Given the description of an element on the screen output the (x, y) to click on. 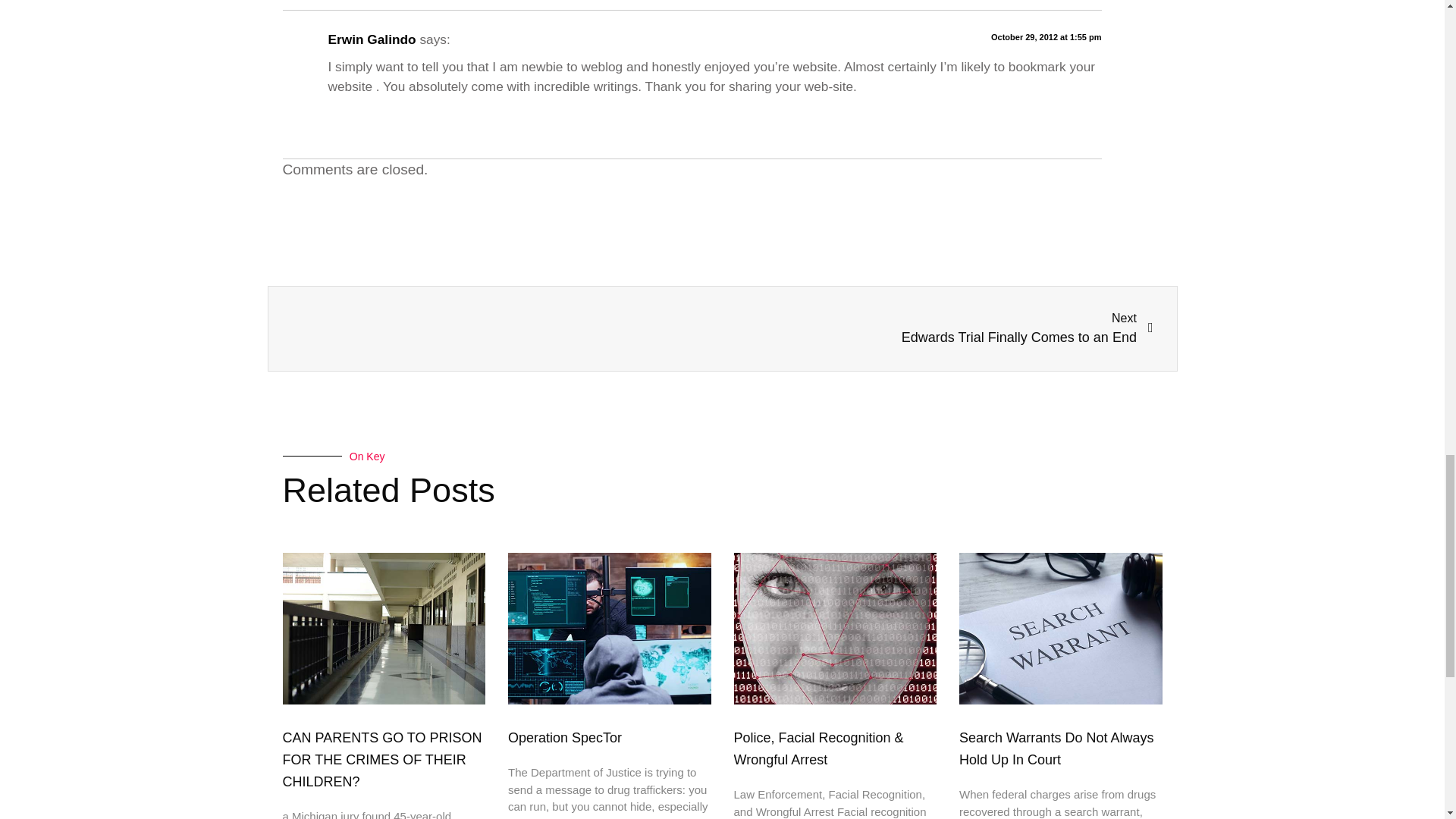
Operation SpecTor (564, 737)
CAN PARENTS GO TO PRISON FOR THE CRIMES OF THEIR CHILDREN? (381, 759)
Erwin Galindo (370, 38)
October 29, 2012 at 1:55 pm (1046, 36)
Search Warrants Do Not Always Hold Up In Court (1056, 748)
